Given the description of an element on the screen output the (x, y) to click on. 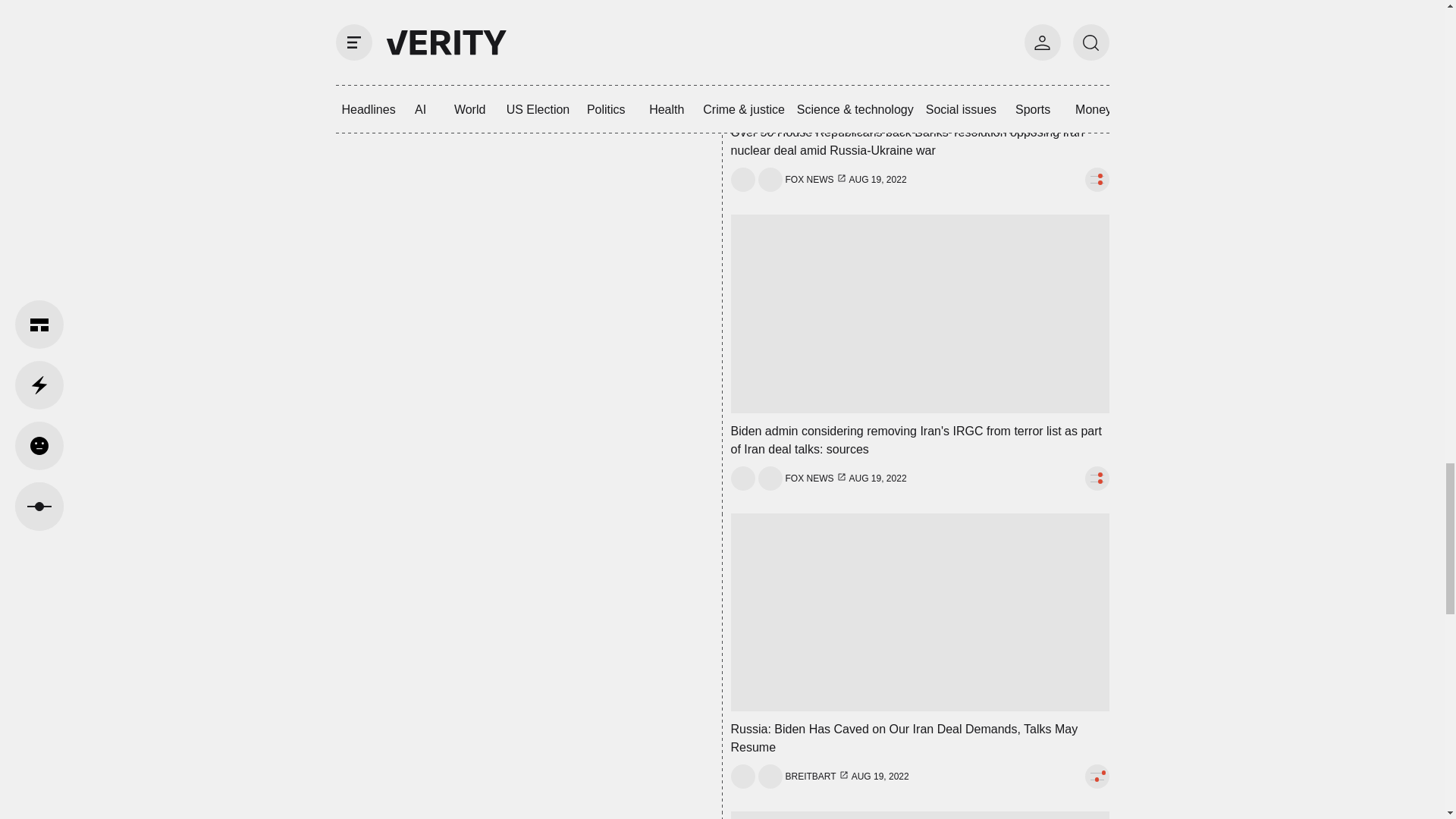
FOX News (810, 179)
LR : 4 CP : 4 (1096, 478)
LR : 4 CP : 4 (1096, 179)
FOX News (810, 478)
